Given the description of an element on the screen output the (x, y) to click on. 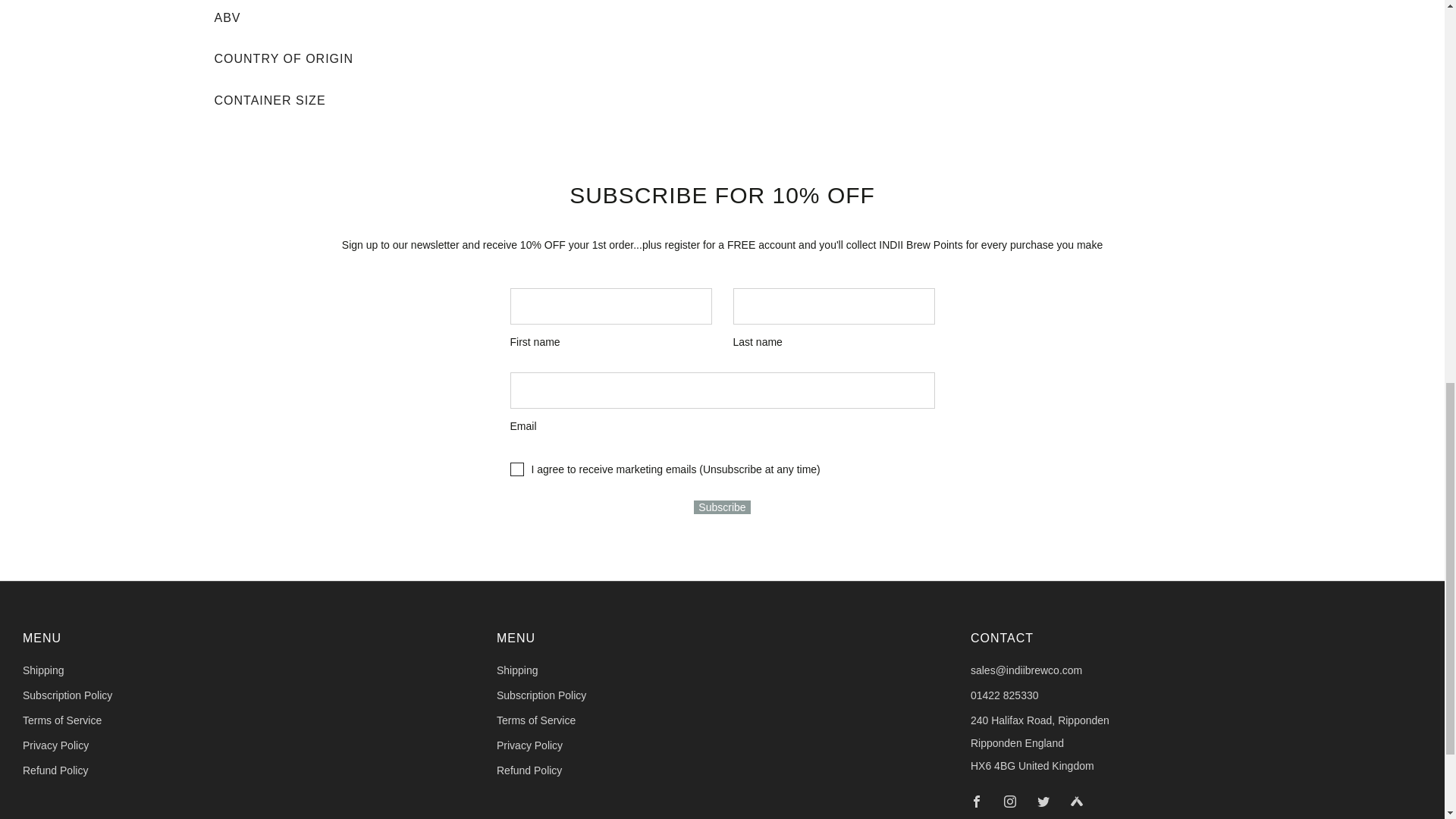
on (515, 468)
